Given the description of an element on the screen output the (x, y) to click on. 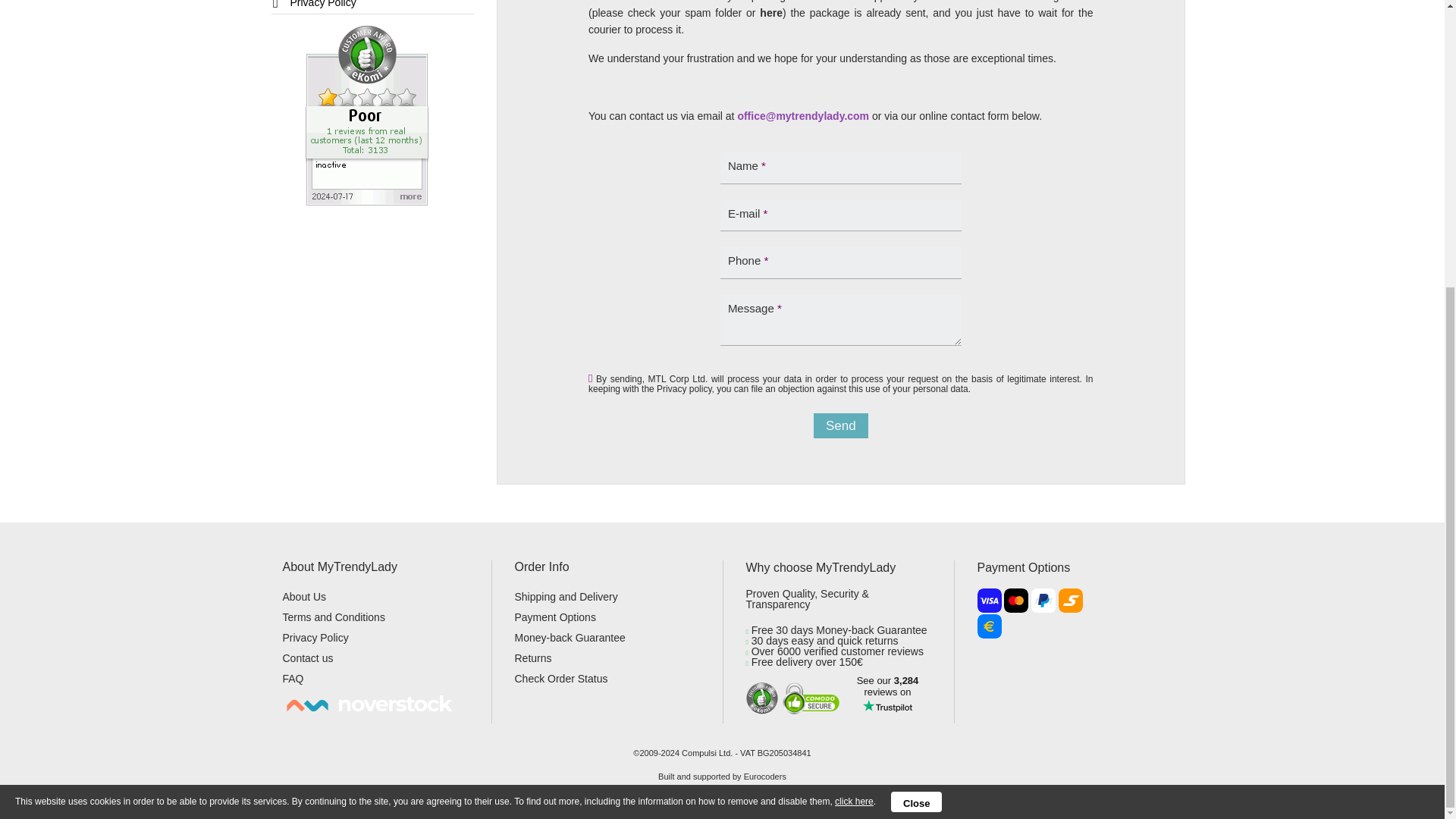
visa Created with Sketch. (988, 600)
Customer reviews powered by Trustpilot (887, 698)
mastercard Created with Sketch. (1015, 600)
click here (853, 367)
paypal Created with Sketch. (1042, 600)
eKomi (761, 698)
Customer review: inactive (366, 114)
sofort Created with Sketch. (1070, 600)
here (853, 367)
Send  (840, 425)
Close (916, 367)
sepa Created with Sketch. (988, 626)
Comodo (813, 698)
